Given the description of an element on the screen output the (x, y) to click on. 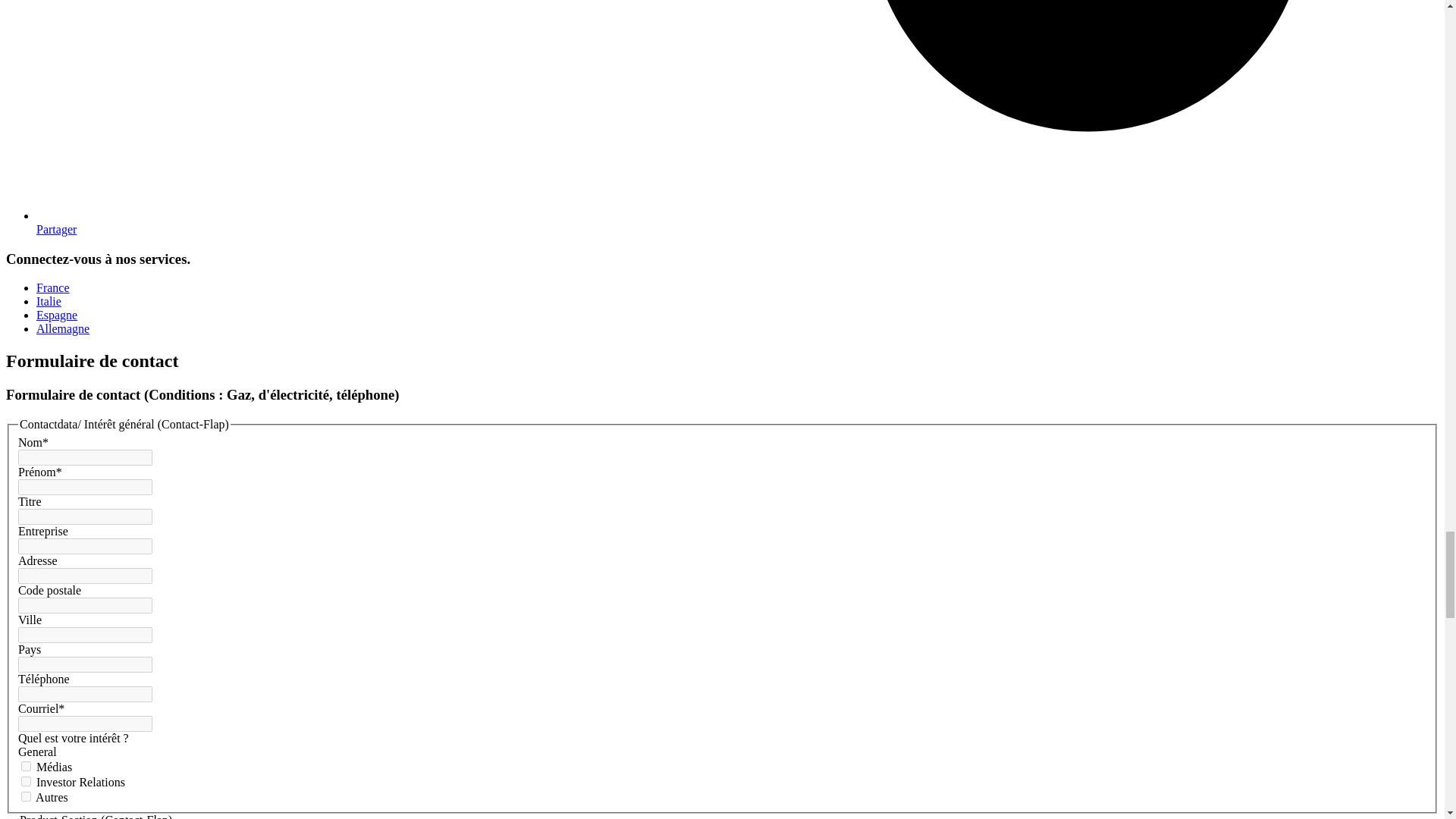
Investor Relations (25, 781)
